Given the description of an element on the screen output the (x, y) to click on. 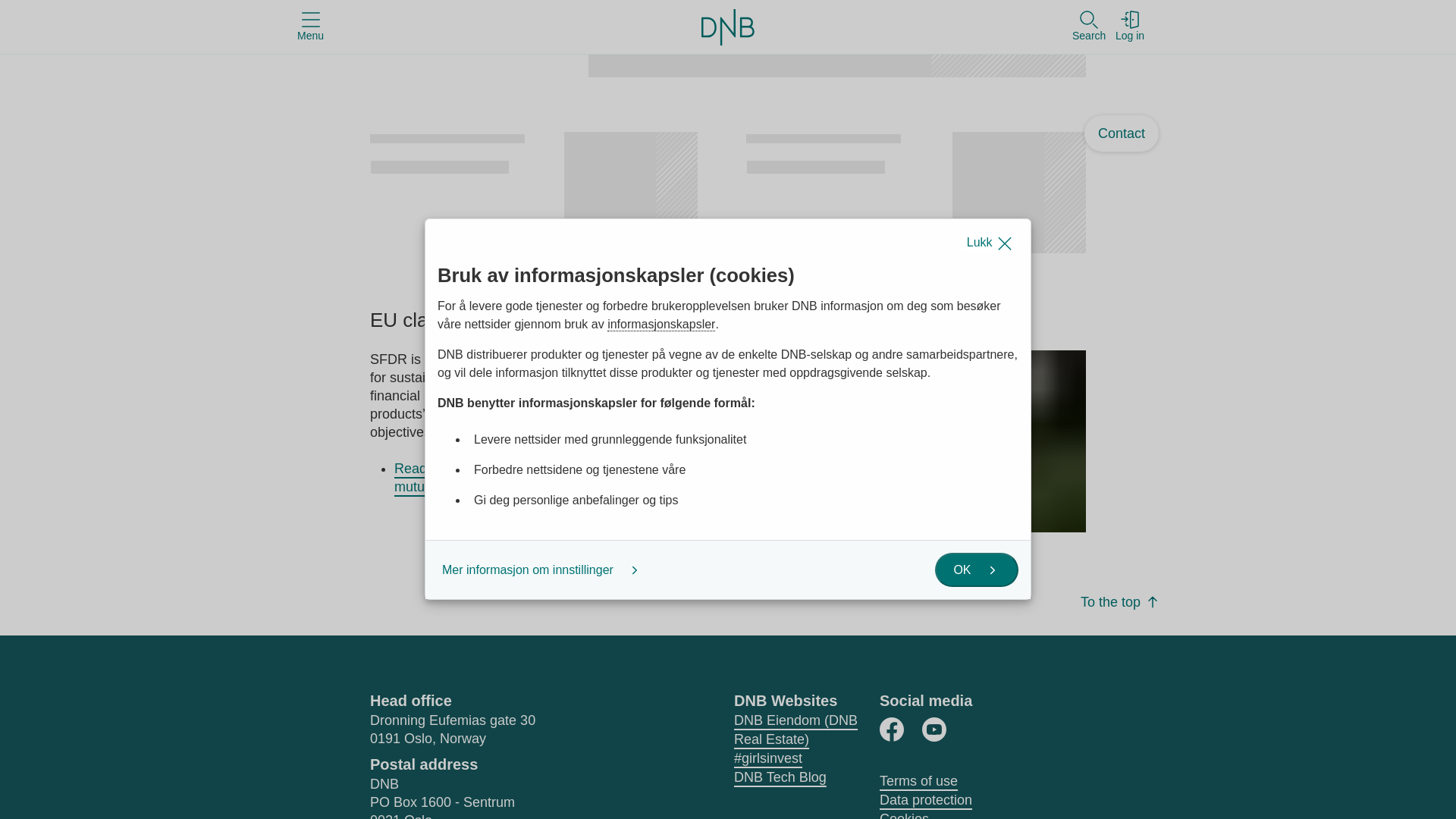
YouTube (933, 729)
Opens a new window (933, 729)
Opens a new window (891, 729)
Facebook (891, 729)
